Given the description of an element on the screen output the (x, y) to click on. 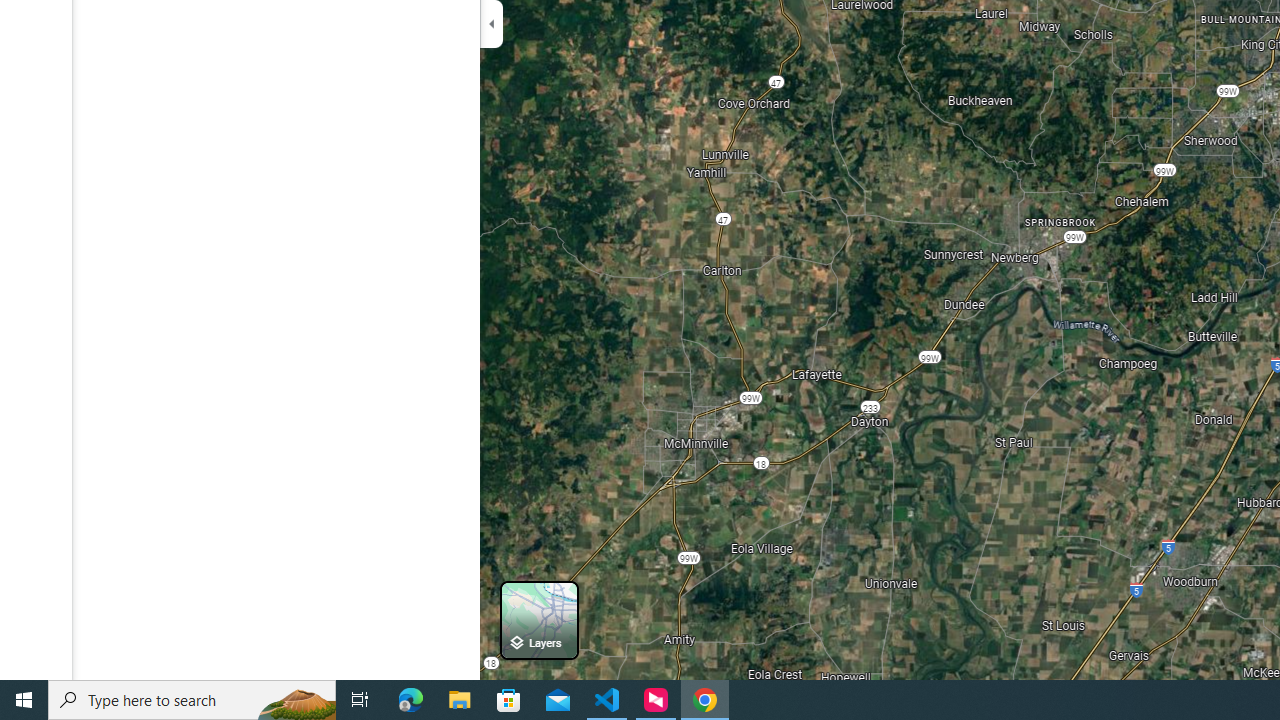
Layers (539, 620)
